Given the description of an element on the screen output the (x, y) to click on. 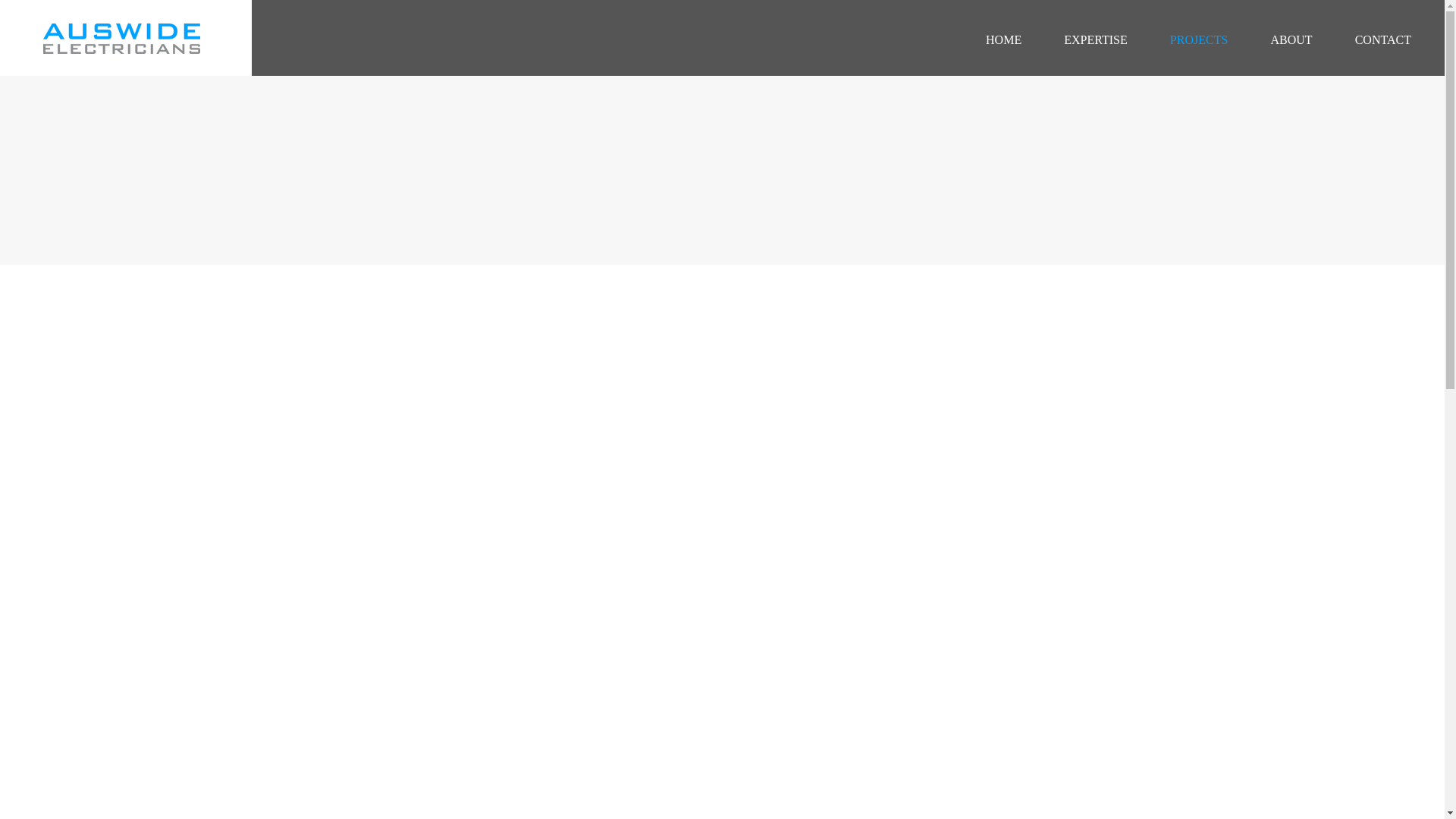
HOME (1003, 39)
PROJECTS (1198, 39)
CONTACT (1382, 39)
ABOUT (1291, 39)
EXPERTISE (1095, 39)
